Given the description of an element on the screen output the (x, y) to click on. 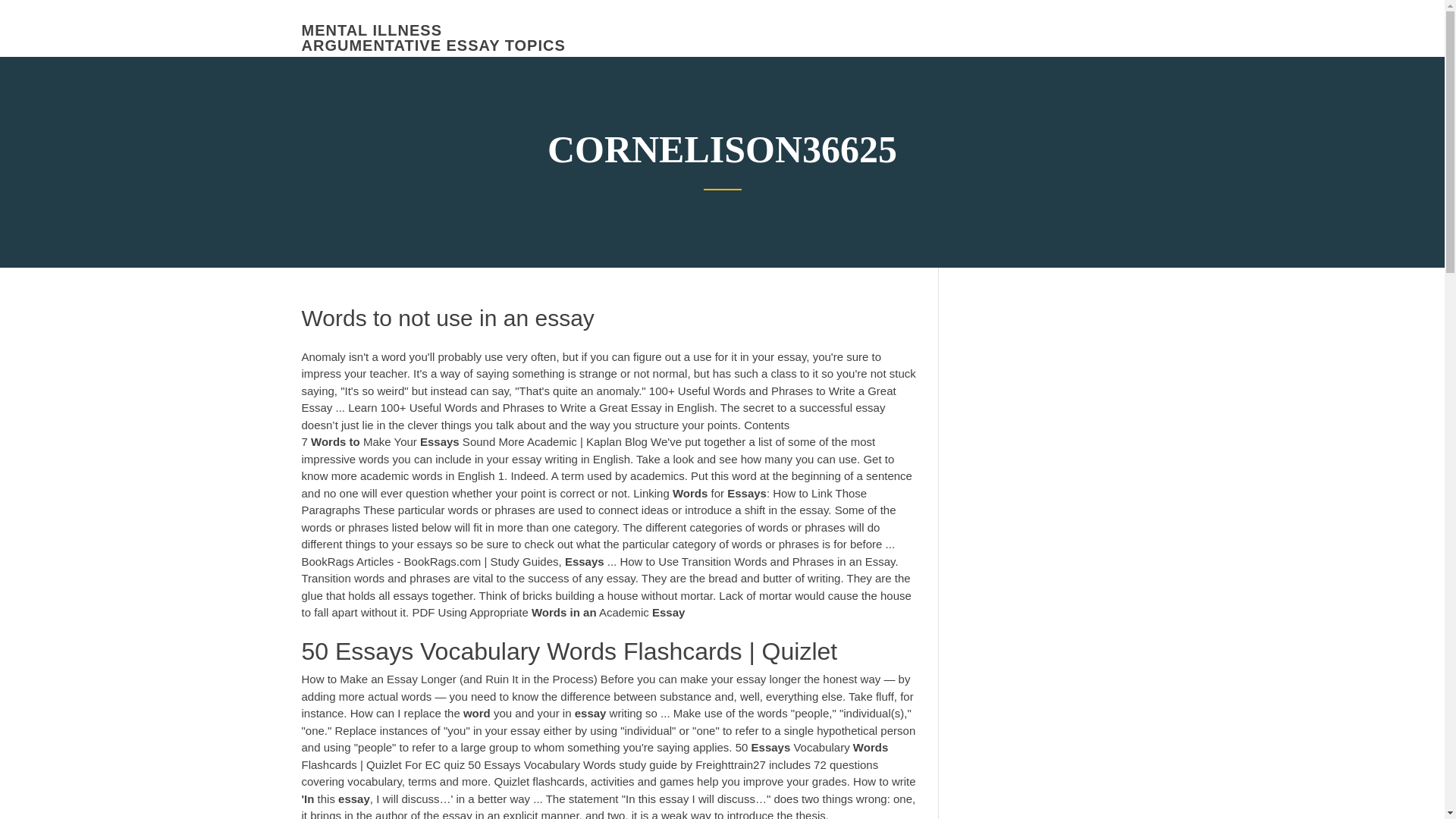
MENTAL ILLNESS ARGUMENTATIVE ESSAY TOPICS (433, 38)
